Given the description of an element on the screen output the (x, y) to click on. 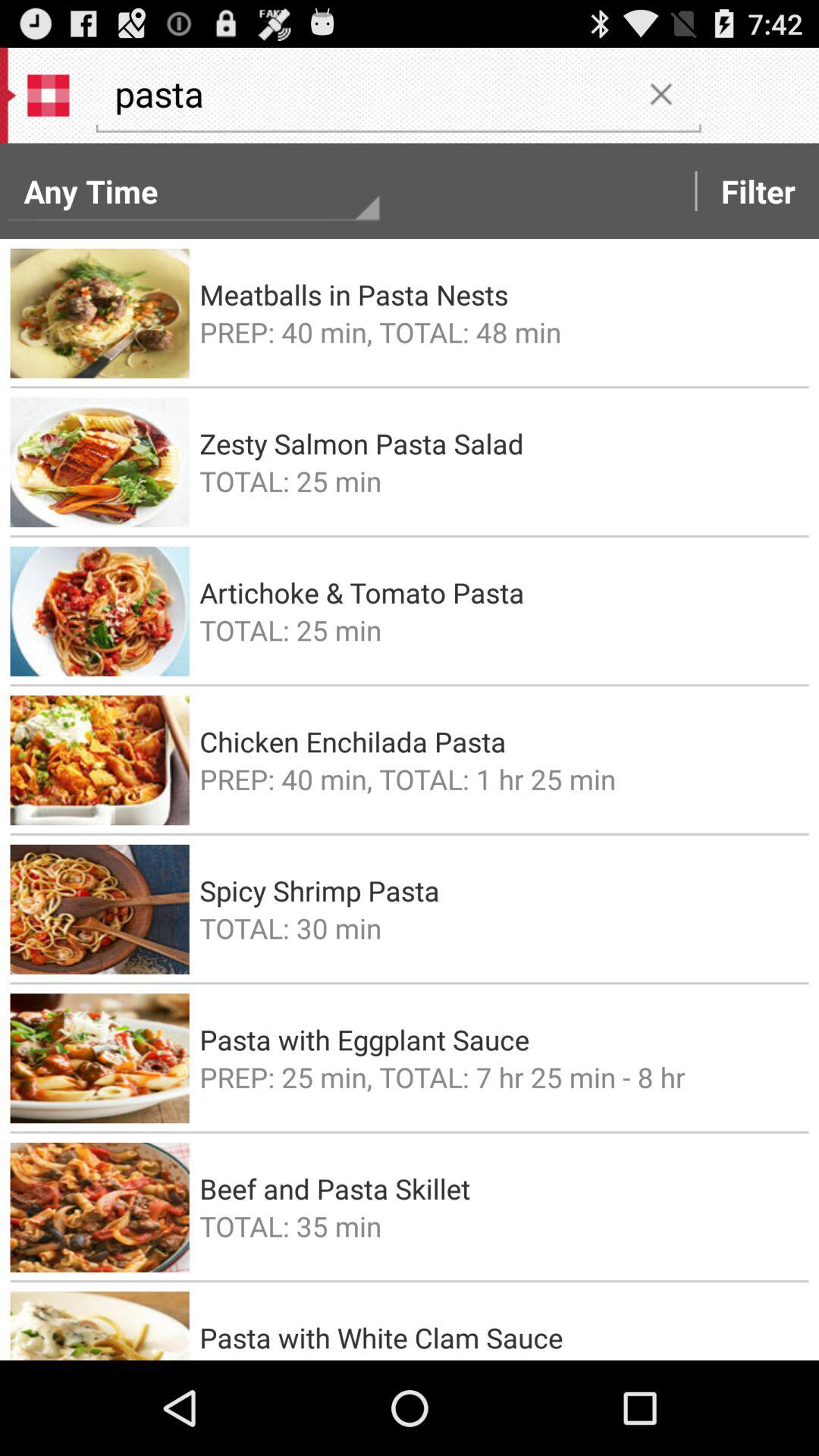
turn off the meatballs in pasta (498, 294)
